Given the description of an element on the screen output the (x, y) to click on. 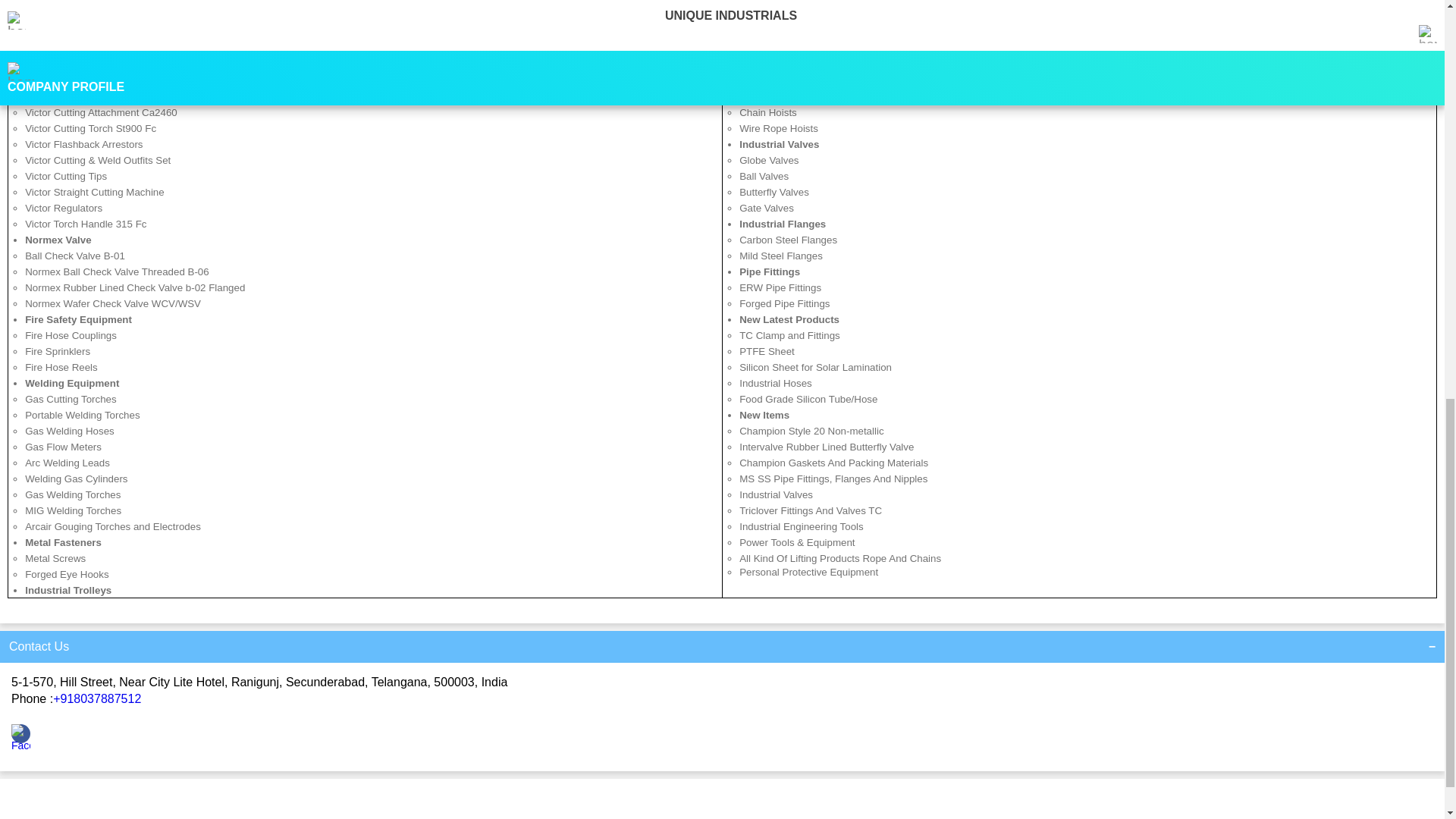
Call Me Free (716, 812)
Facebook (20, 745)
Send Inquiry (246, 812)
